Given the description of an element on the screen output the (x, y) to click on. 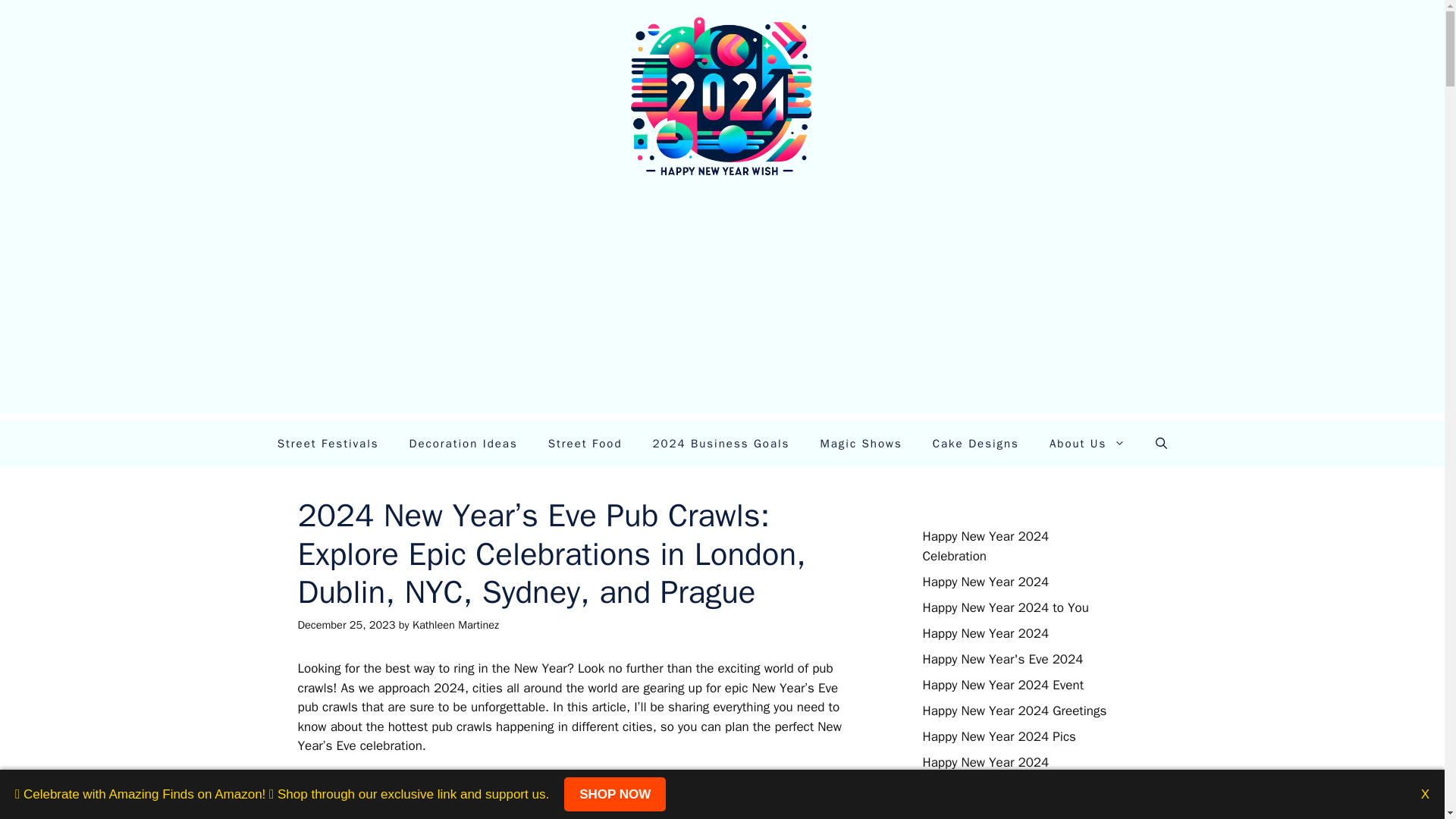
Decoration Ideas (463, 443)
Happy New Year 2024 (984, 762)
Magic Shows (861, 443)
Happy New Year 2024 Greetings (1013, 710)
Cake Designs (975, 443)
Happy New Year 2024 Pics (998, 736)
Happy New Year 2024 (984, 633)
Happy New Year's Eve 2024 (1002, 659)
Kathleen Martinez (455, 624)
About Us (1086, 443)
Happy New Year 2024 Celebration (984, 546)
Happy New Year 2024 Wallpapers (1018, 788)
Happy New Year 2024 (984, 581)
Street Festivals (328, 443)
View all posts by Kathleen Martinez (455, 624)
